Given the description of an element on the screen output the (x, y) to click on. 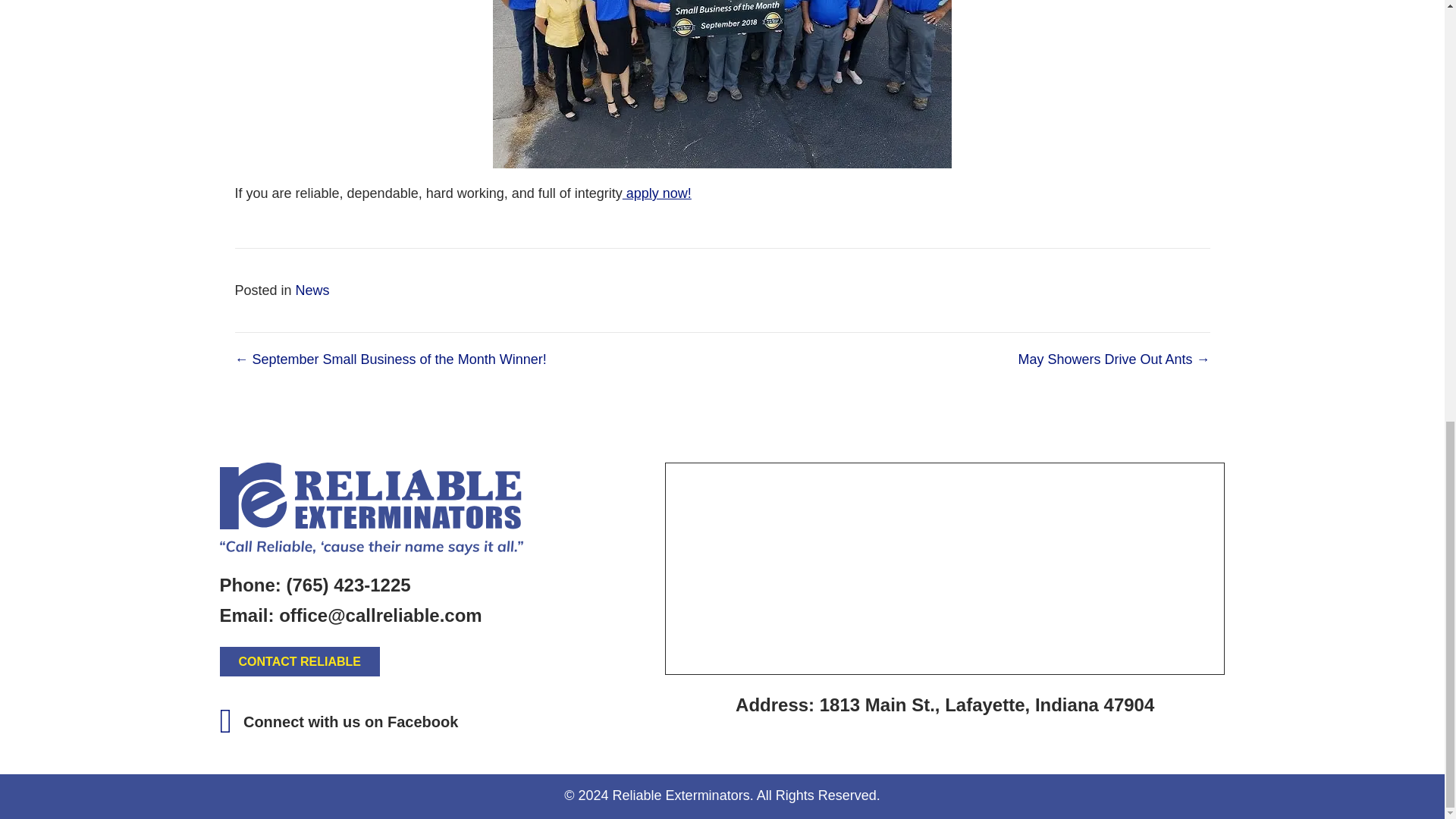
CONTACT RELIABLE (299, 661)
apply now! (657, 192)
Logo2 (370, 508)
News (312, 290)
